Given the description of an element on the screen output the (x, y) to click on. 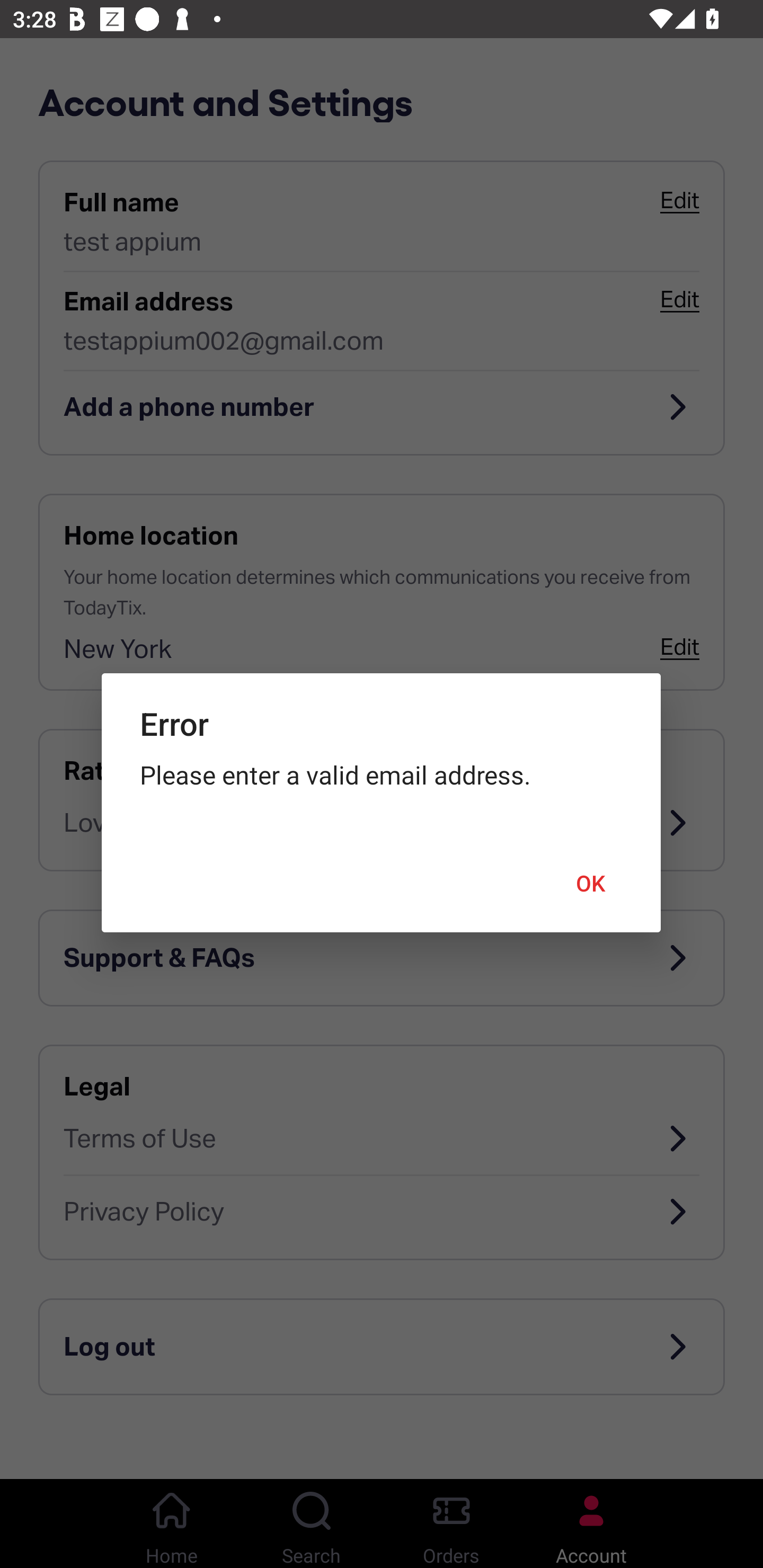
OK (590, 883)
